Given the description of an element on the screen output the (x, y) to click on. 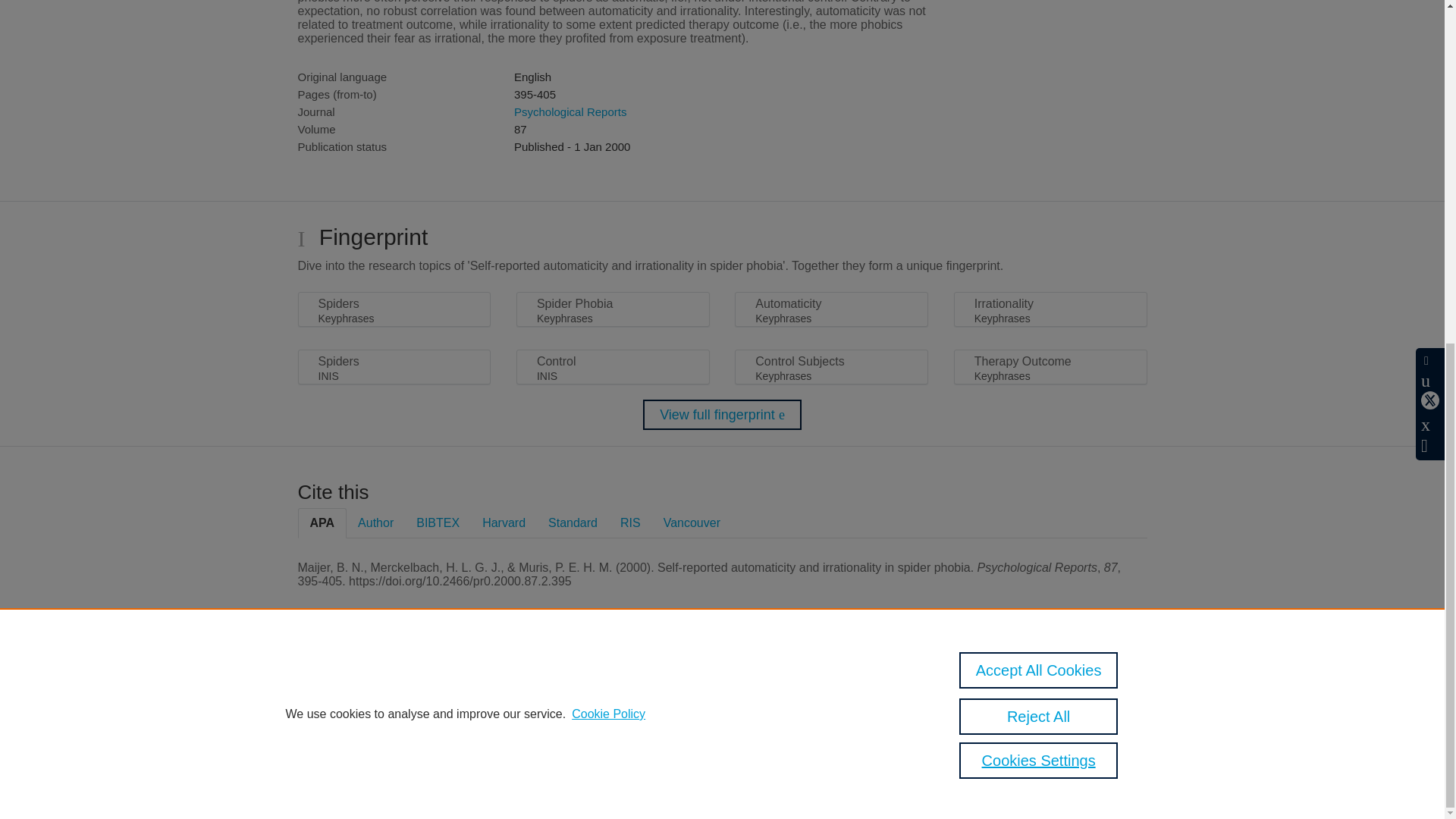
Pure (362, 686)
View full fingerprint (722, 414)
Psychological Reports (569, 111)
